Given the description of an element on the screen output the (x, y) to click on. 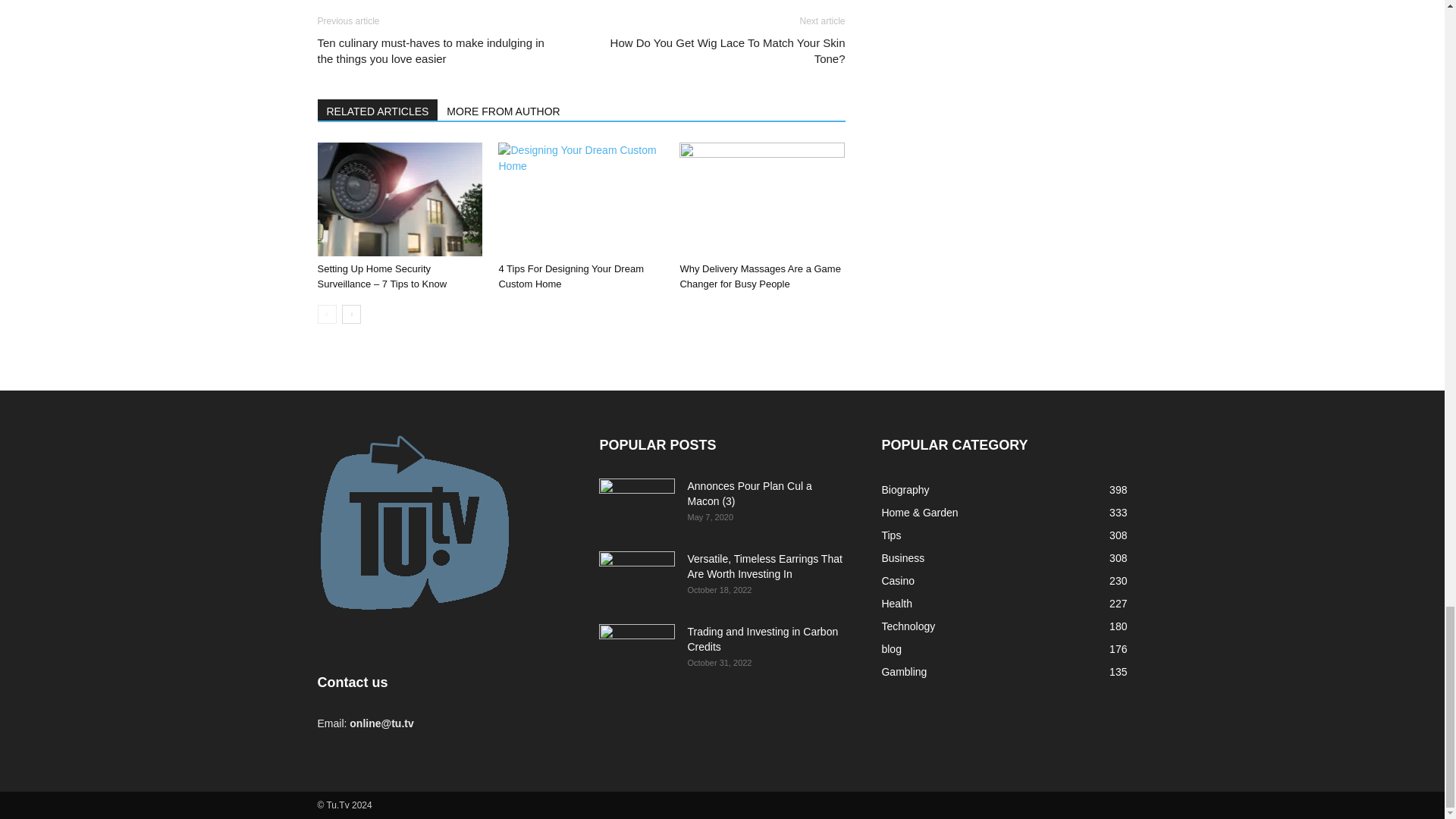
Why Delivery Massages Are a Game Changer for Busy People (759, 275)
Why Delivery Massages Are a Game Changer for Busy People (761, 199)
4 Tips For Designing Your Dream Custom Home (580, 199)
4 Tips For Designing Your Dream Custom Home (570, 275)
